Given the description of an element on the screen output the (x, y) to click on. 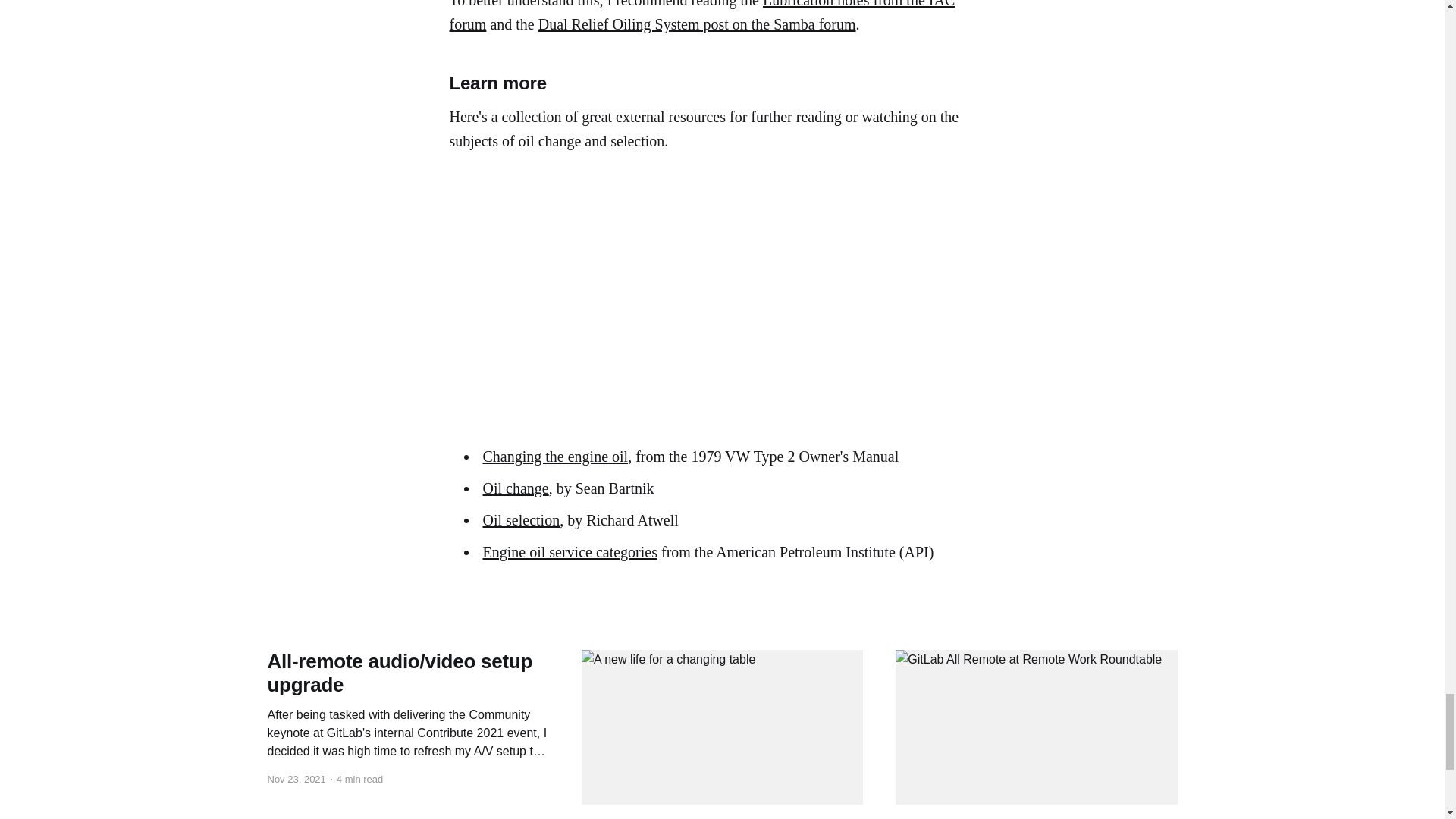
Oil change (514, 487)
Lubrication notes from the IAC forum (701, 16)
Dual Relief Oiling System post on the Samba forum (697, 23)
Oil selection (520, 519)
Engine oil service categories (568, 551)
Changing the engine oil (554, 456)
